Given the description of an element on the screen output the (x, y) to click on. 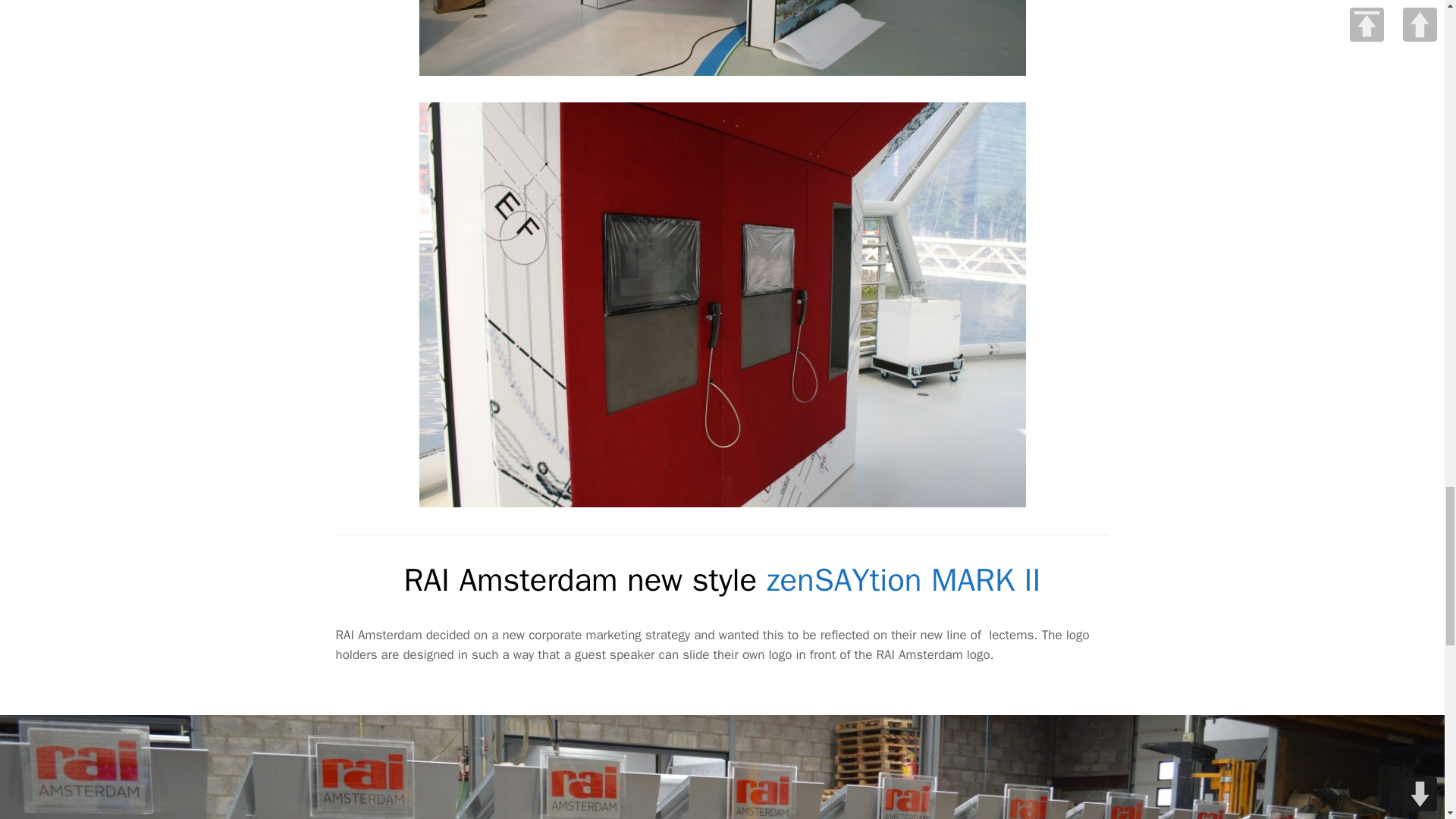
bouwhuisjesrotterdam3 (722, 38)
